Given the description of an element on the screen output the (x, y) to click on. 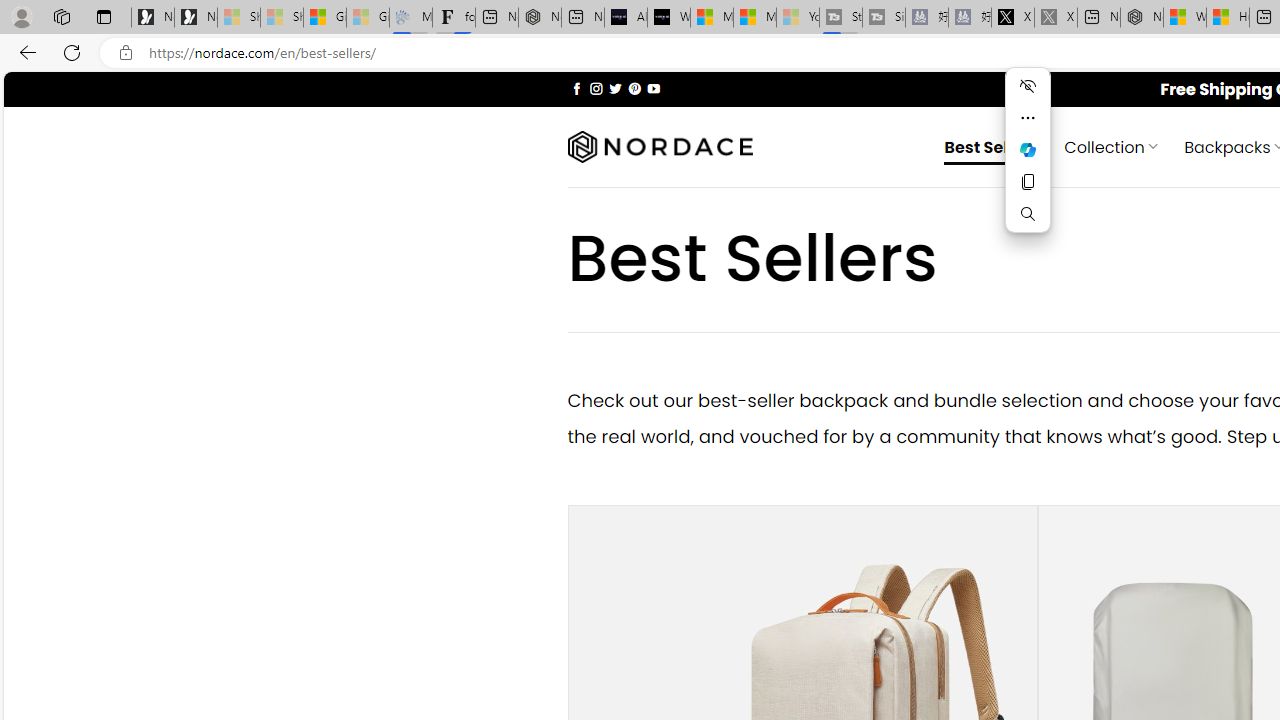
  Best Sellers (991, 146)
Newsletter Sign Up (196, 17)
 Best Sellers (991, 146)
Huge shark washes ashore at New York City beach | Watch (1228, 17)
Follow on Instagram (596, 88)
Ask Copilot (1027, 149)
Mini menu on text selection (1027, 149)
What's the best AI voice generator? - voice.ai (668, 17)
Follow on Twitter (615, 88)
